Given the description of an element on the screen output the (x, y) to click on. 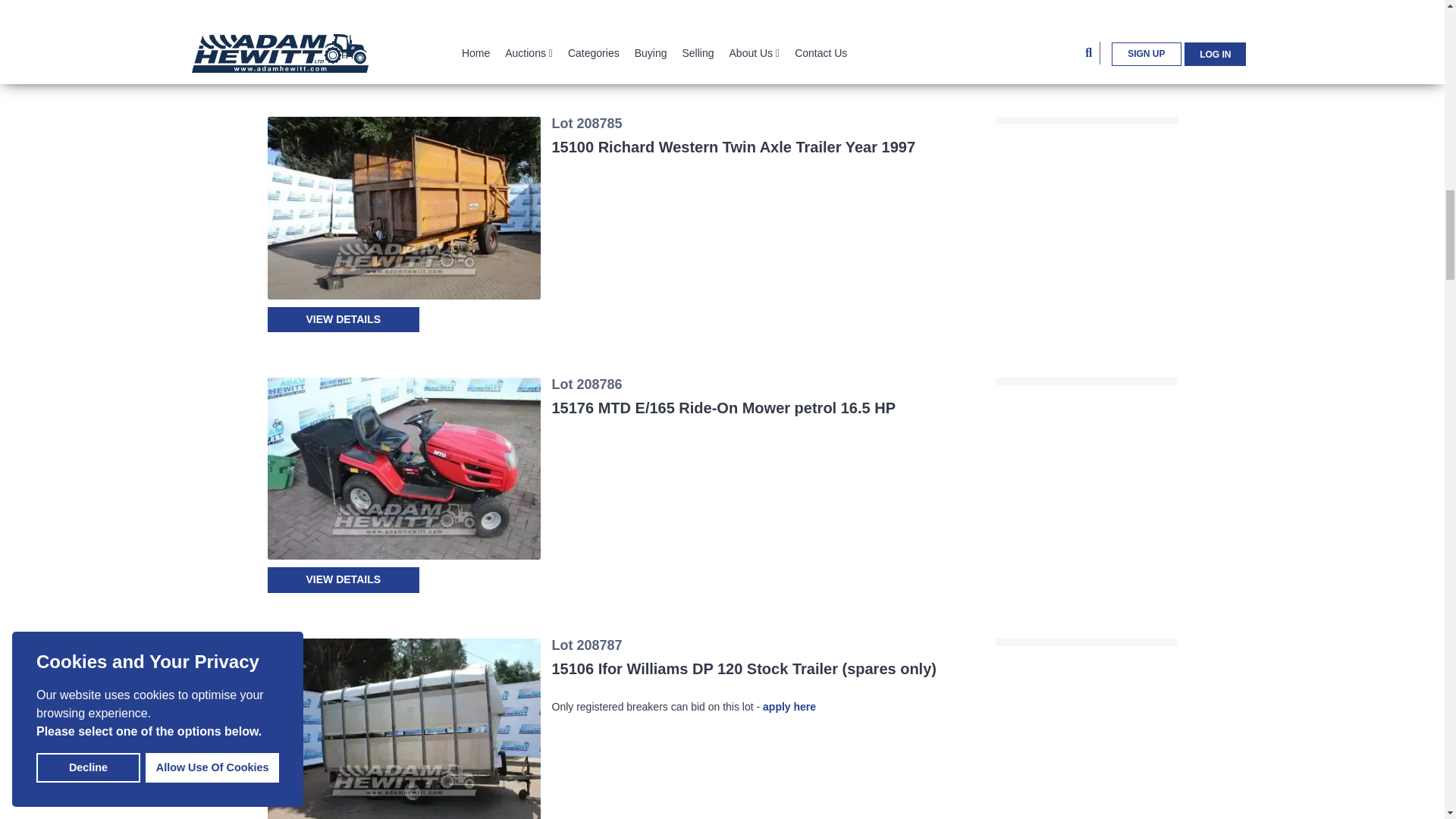
VIEW DETAILS (342, 58)
Login (1085, 18)
VIEW DETAILS (342, 319)
